Given the description of an element on the screen output the (x, y) to click on. 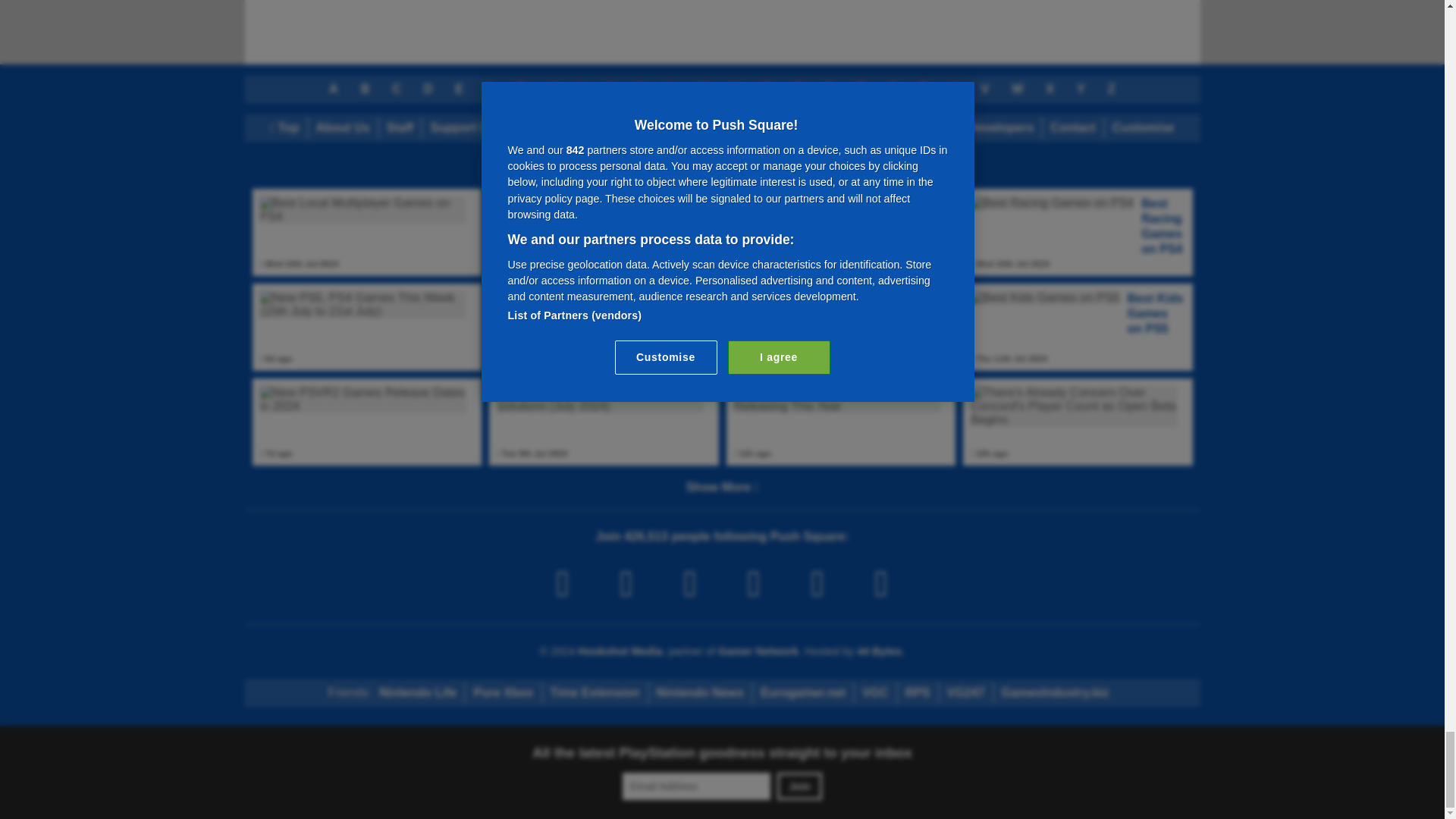
Join (799, 786)
